Given the description of an element on the screen output the (x, y) to click on. 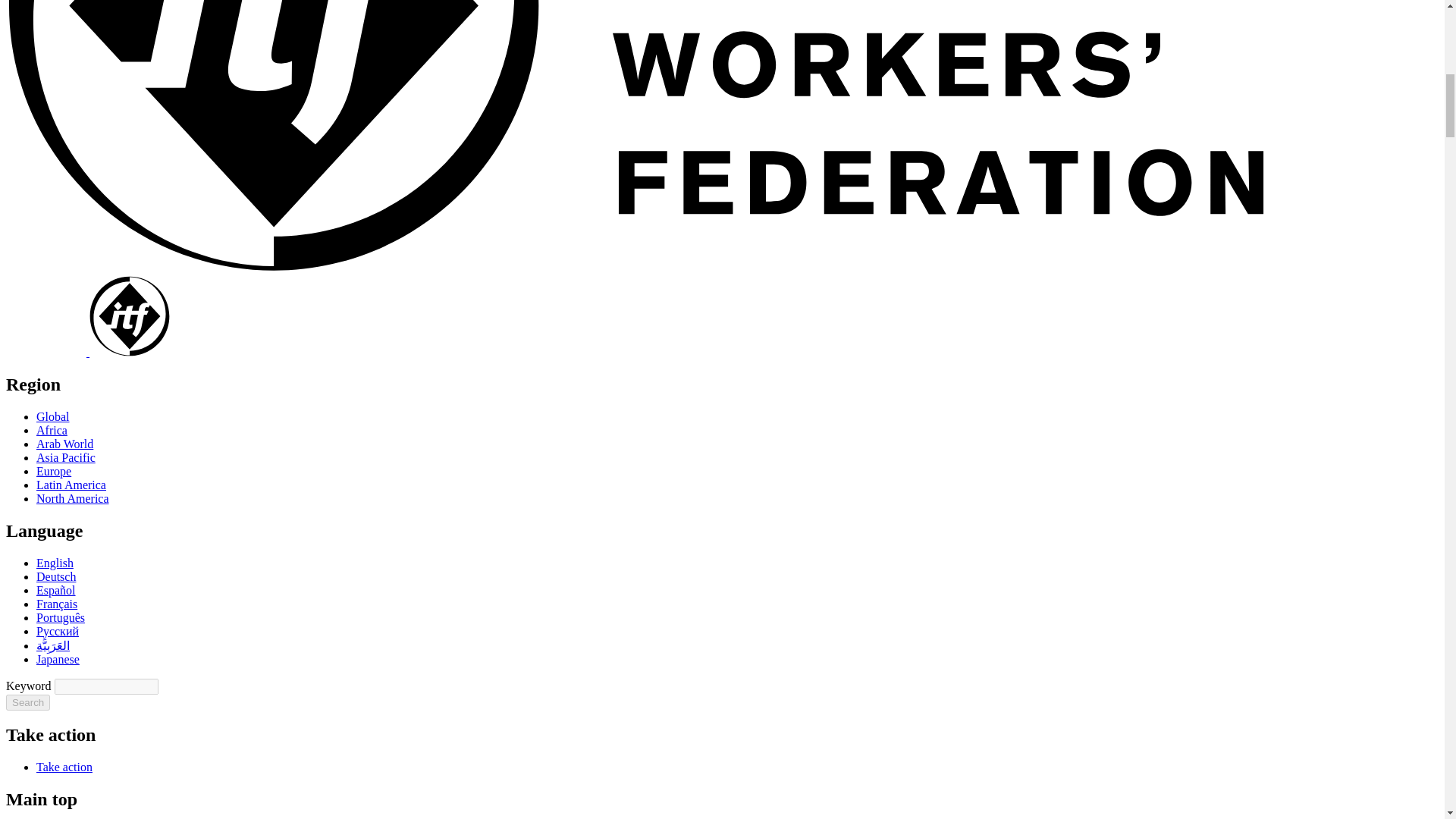
Latin America (71, 484)
Search (27, 702)
North America (72, 498)
Asia Pacific (66, 457)
Take action (64, 766)
Search (27, 702)
Arab World (64, 443)
Europe (53, 471)
English (55, 562)
Deutsch (55, 576)
Africa (51, 430)
Japanese (58, 658)
Global (52, 416)
